Given the description of an element on the screen output the (x, y) to click on. 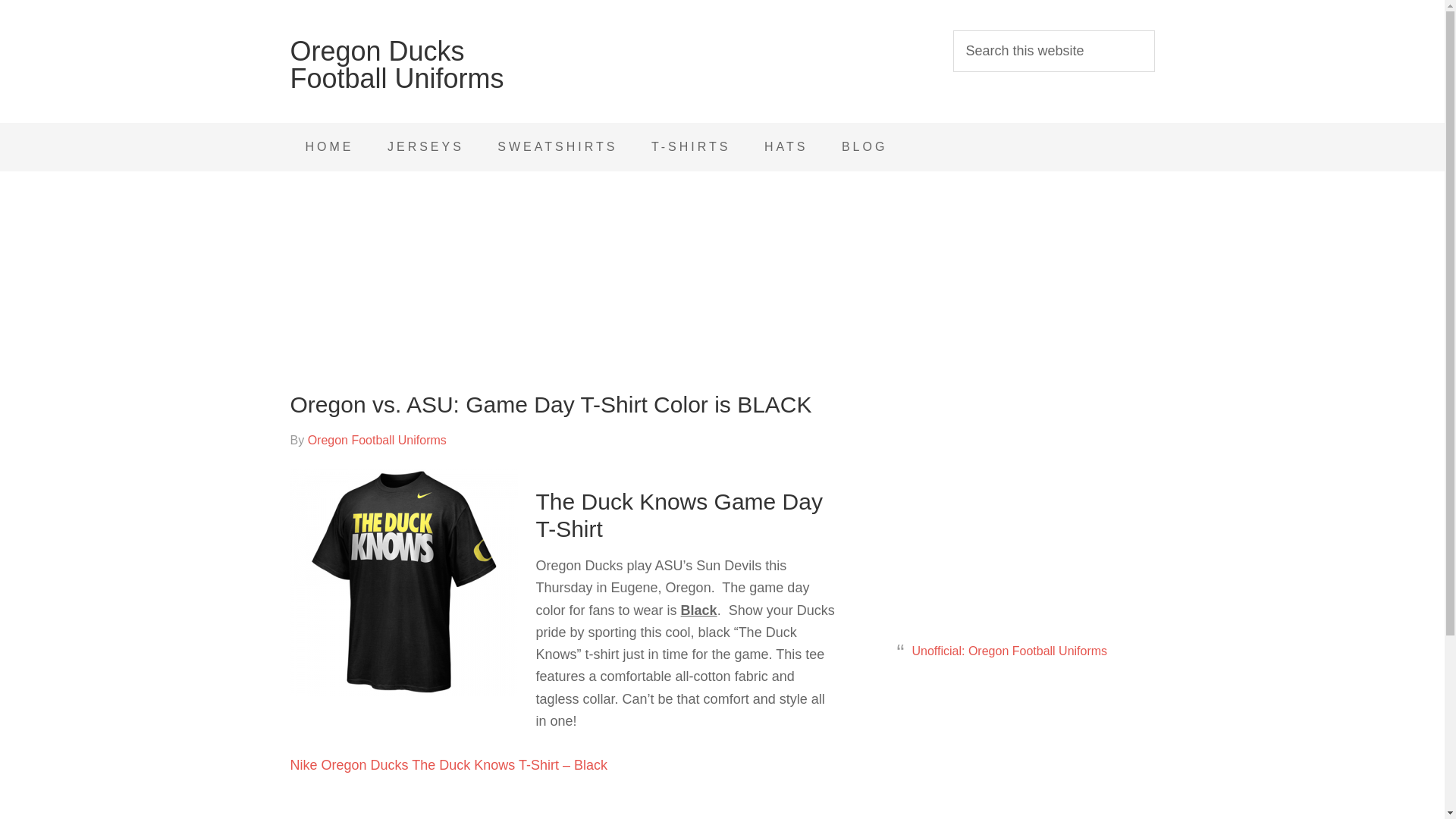
BLOG (864, 146)
Oregon Ducks Football Uniforms (396, 65)
SWEATSHIRTS (556, 146)
Advertisement (1017, 762)
HATS (785, 146)
JERSEYS (425, 146)
Unofficial: Oregon Football Uniforms (1008, 650)
T-SHIRTS (690, 146)
the duck knows black (402, 582)
